Given the description of an element on the screen output the (x, y) to click on. 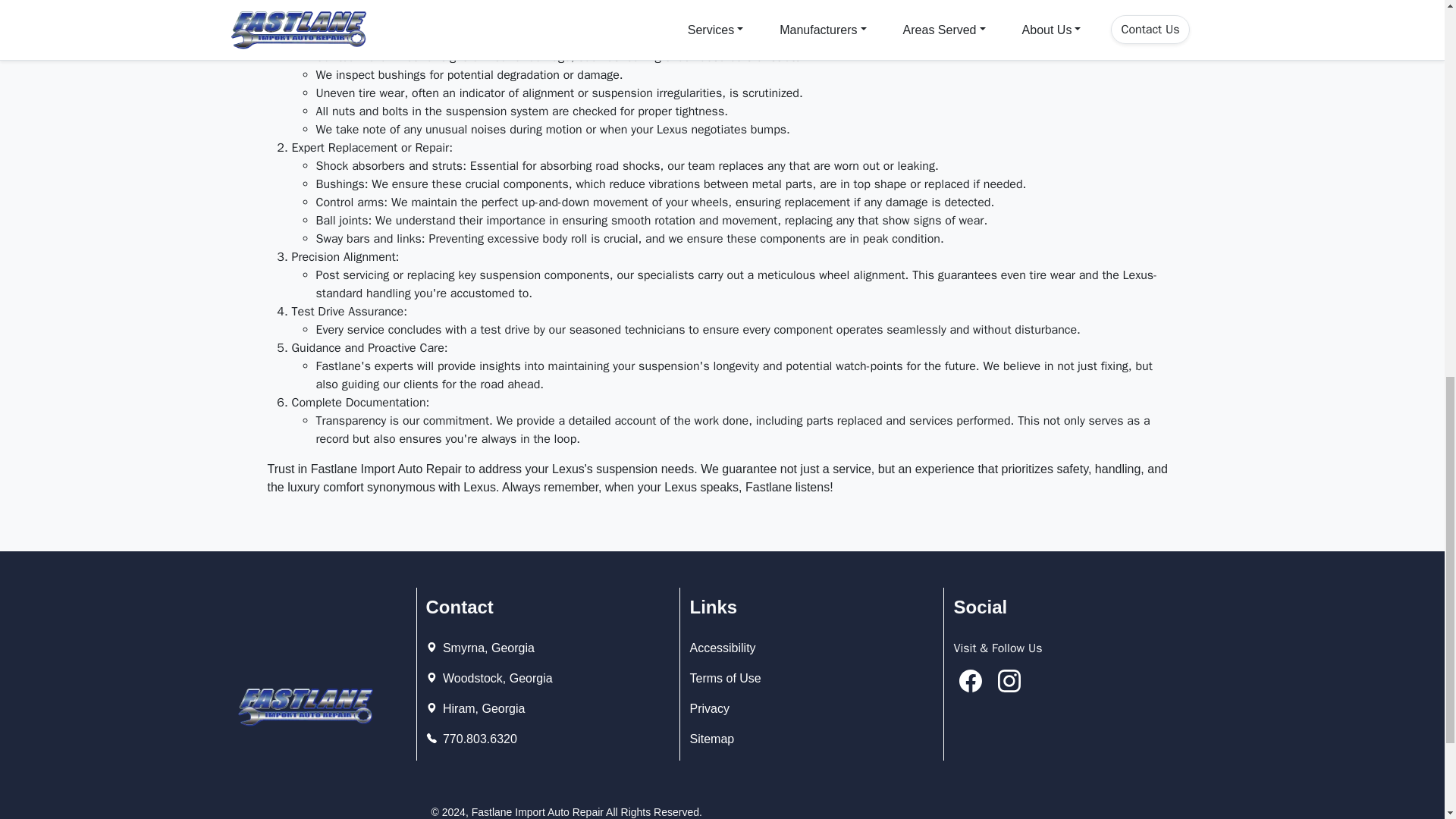
Fastlane Import Auto Repair Logo (304, 707)
